Given the description of an element on the screen output the (x, y) to click on. 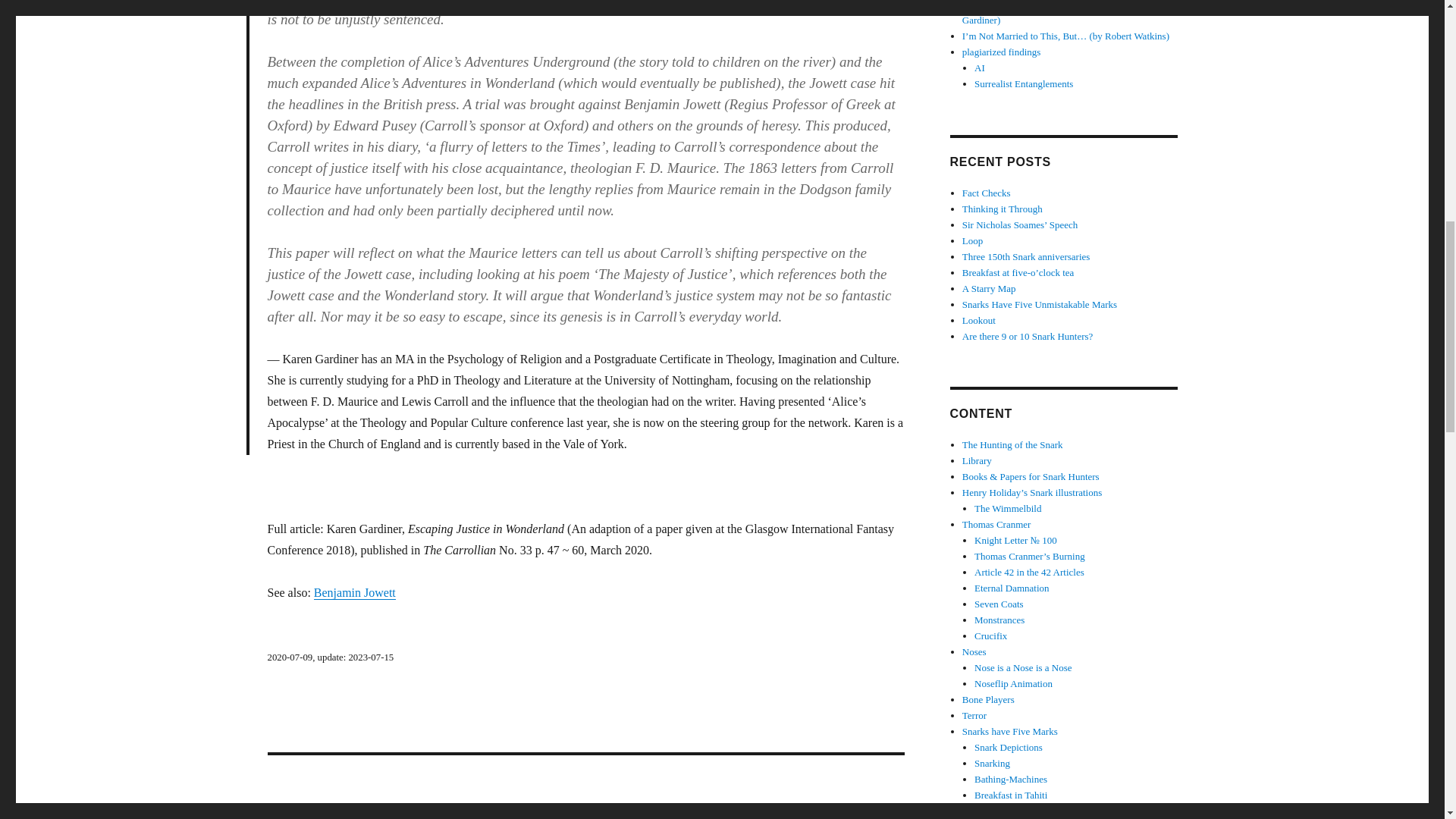
AI (979, 67)
Surrealist Entanglements (1023, 83)
Thinking it Through (1002, 208)
Lookout (978, 319)
The Hunting of the Snark (1012, 444)
A Starry Map (989, 288)
Snarks Have Five Unmistakable Marks (1039, 304)
Benjamin Jowett (355, 592)
plagiarized findings (1001, 51)
Are there 9 or 10 Snark Hunters? (1027, 336)
